Given the description of an element on the screen output the (x, y) to click on. 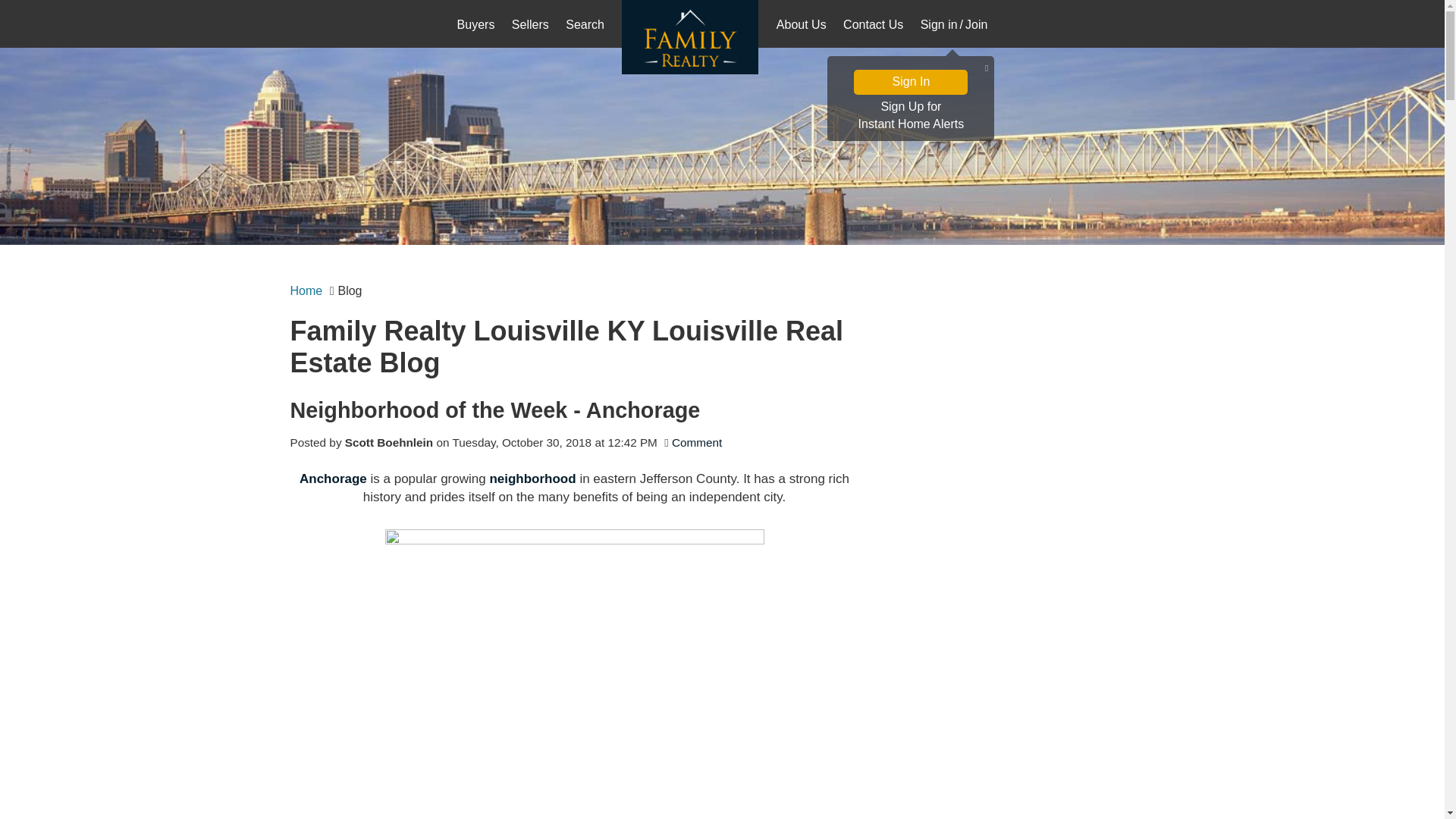
Neighborhood of the Week - Anchorage (574, 410)
Sign In (910, 82)
Neighborhood of the Week - Anchorage (574, 410)
neighborhood (532, 478)
Comment (696, 441)
Buyers (475, 25)
Anchorage (910, 116)
Contact Us (332, 478)
Home (872, 25)
